Given the description of an element on the screen output the (x, y) to click on. 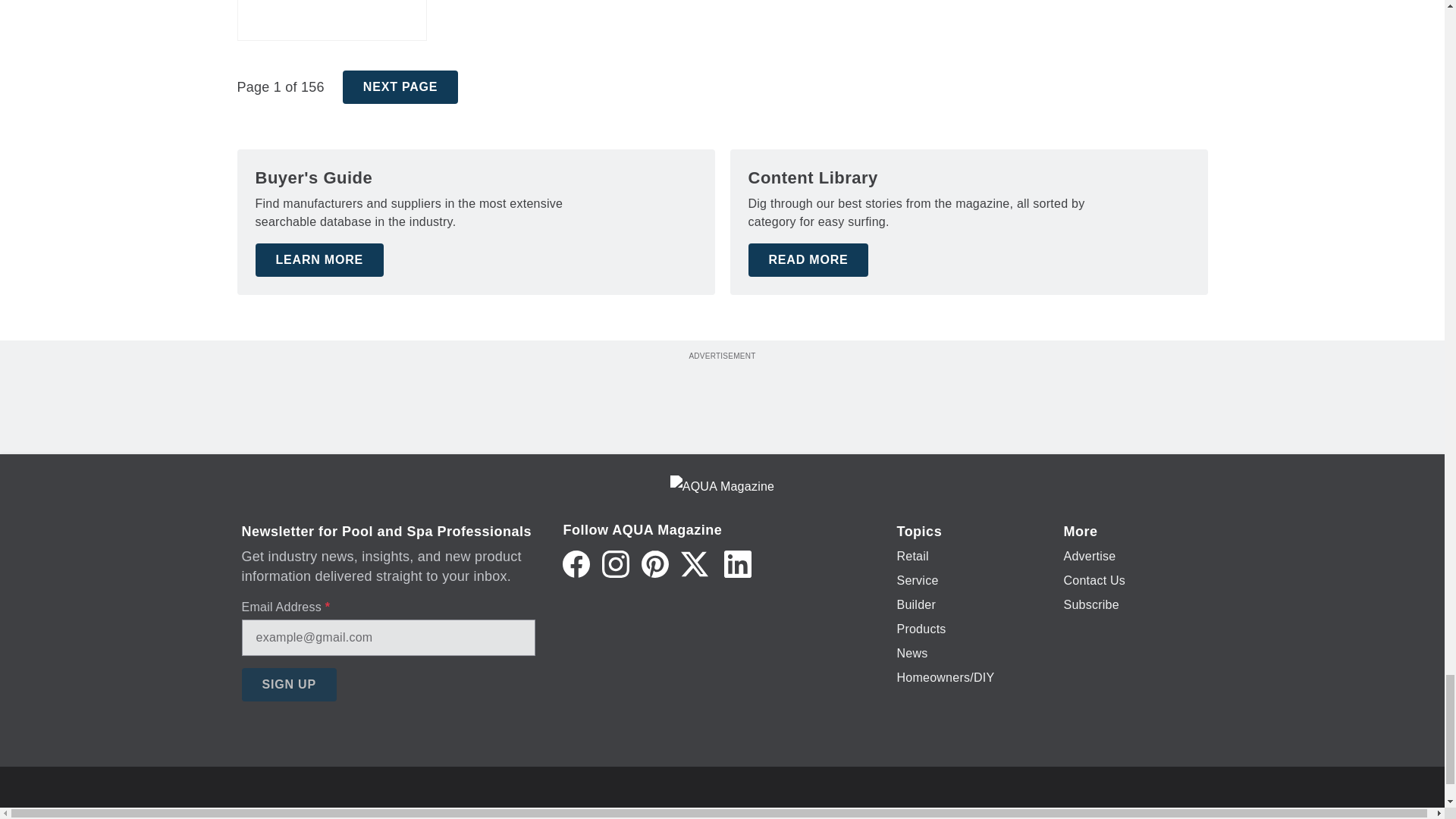
Instagram icon (615, 564)
LinkedIn icon (737, 564)
Pinterest icon (655, 564)
Facebook icon (575, 564)
Twitter X icon (694, 564)
